Given the description of an element on the screen output the (x, y) to click on. 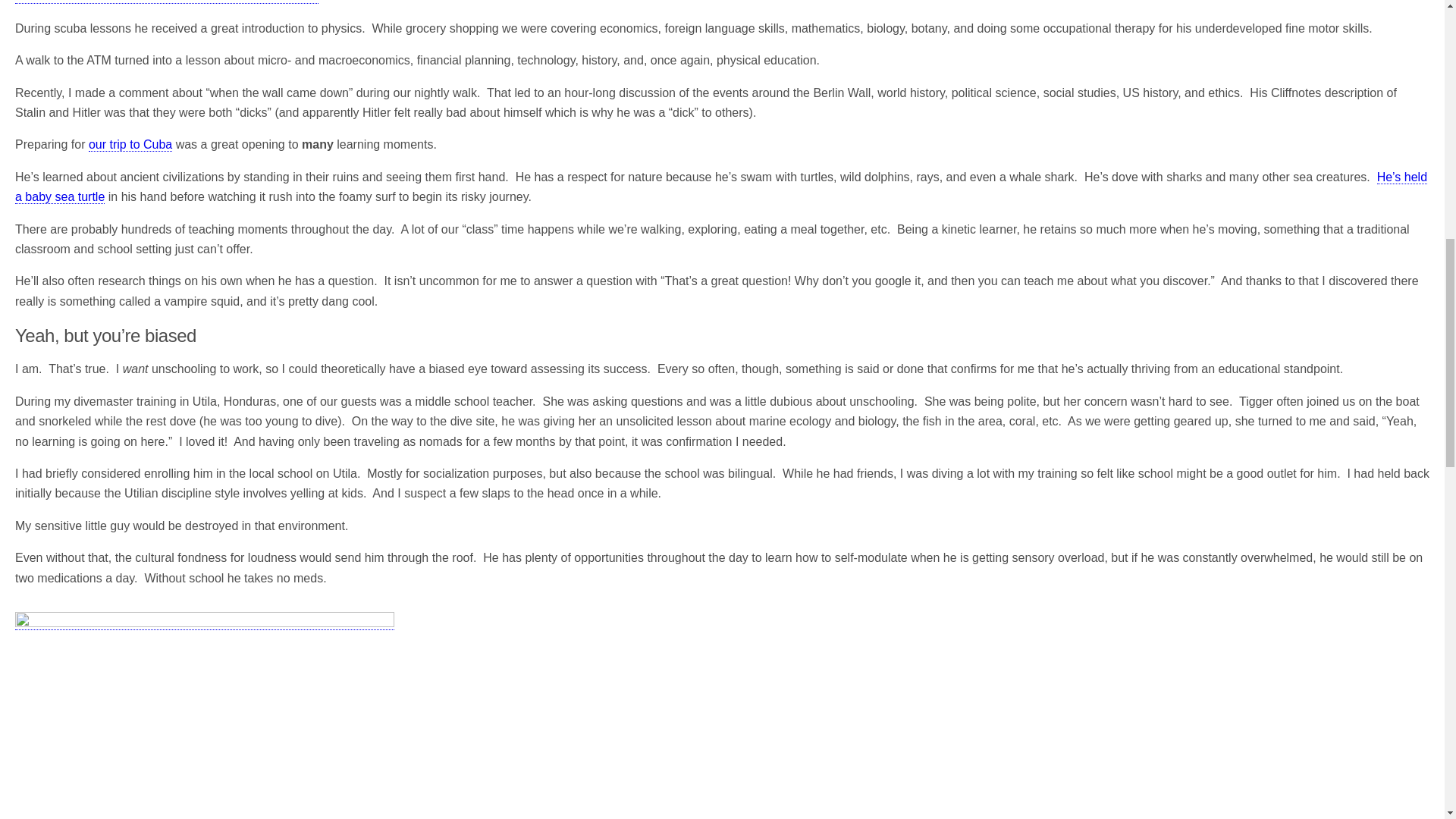
our trip to Cuba (129, 144)
Visiting The Forbidden Island (129, 144)
Life Lessons From Turtles (720, 186)
Tigger being a shutterbug (204, 715)
